Given the description of an element on the screen output the (x, y) to click on. 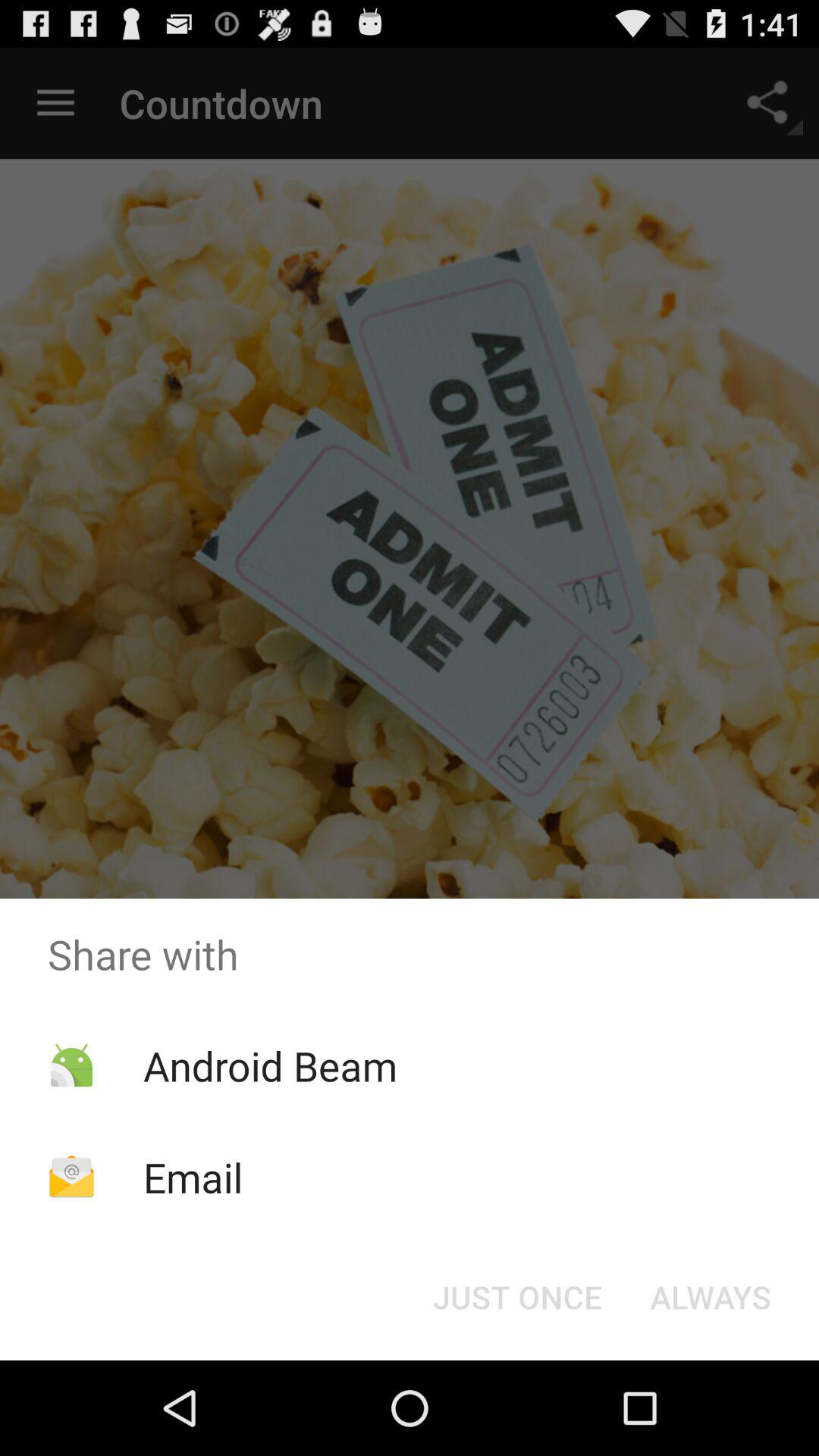
open the app above email (270, 1065)
